Given the description of an element on the screen output the (x, y) to click on. 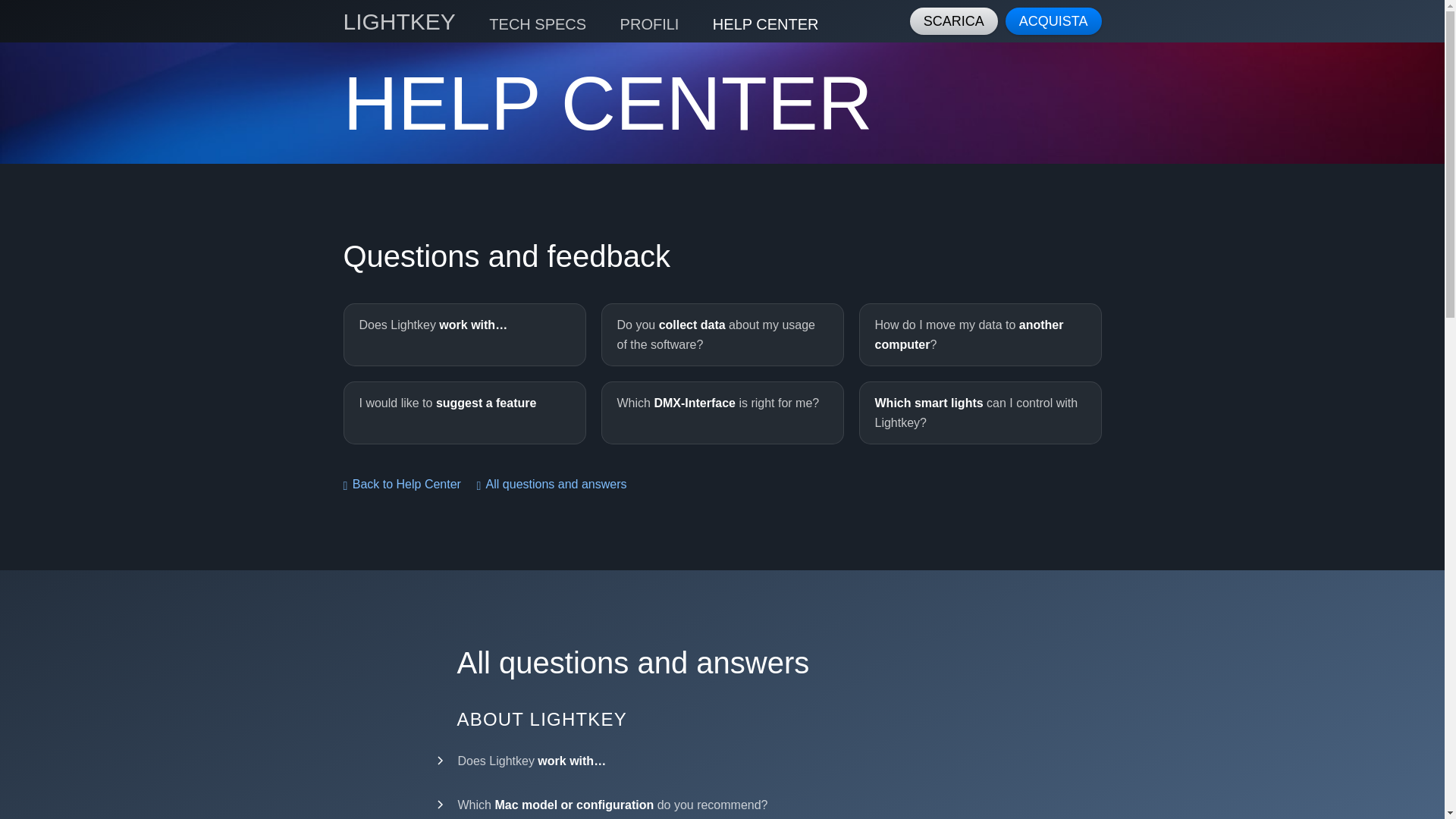
Do you collect data about my usage of the software? (721, 334)
PROFILI (649, 23)
HELP CENTER (765, 23)
All questions and answers (551, 483)
Which Mac model or configuration do you recommend? (722, 801)
SCARICA (953, 20)
How do I move my data to another computer? (979, 334)
I would like to suggest a feature (463, 412)
LIGHTKEY (398, 21)
ACQUISTA (1053, 20)
Which smart lights can I control with Lightkey? (979, 412)
TECH SPECS (537, 23)
Back to Help Center (401, 483)
Which DMX-Interface is right for me? (721, 412)
All questions and answers (551, 483)
